Given the description of an element on the screen output the (x, y) to click on. 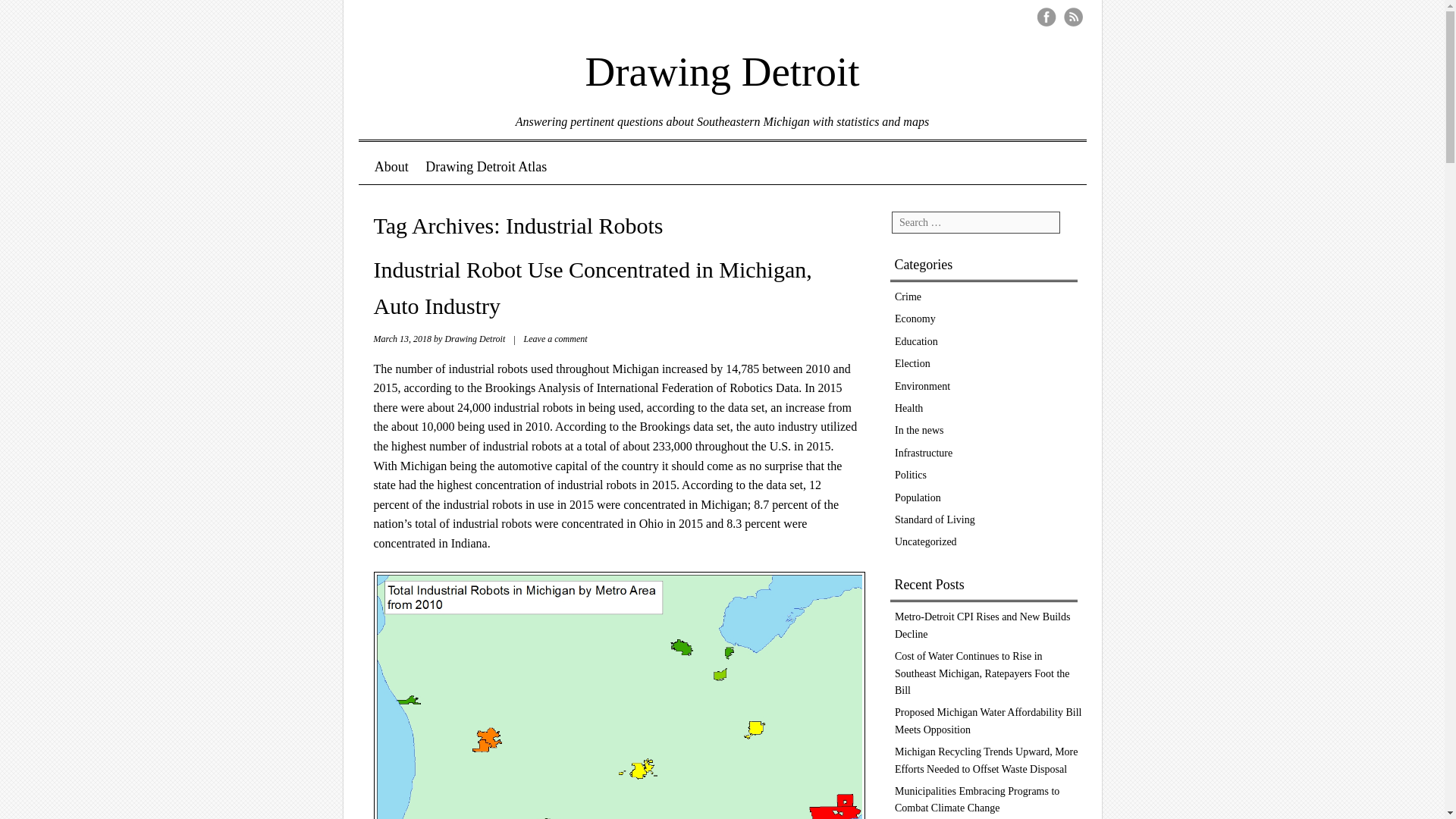
Search (40, 21)
Standard of Living (935, 519)
Industrial Robot Use Concentrated in Michigan, Auto Industry (591, 287)
Economy (915, 318)
Environment (922, 386)
About (390, 167)
Uncategorized (925, 541)
Skip to content (415, 167)
In the news (919, 430)
